Given the description of an element on the screen output the (x, y) to click on. 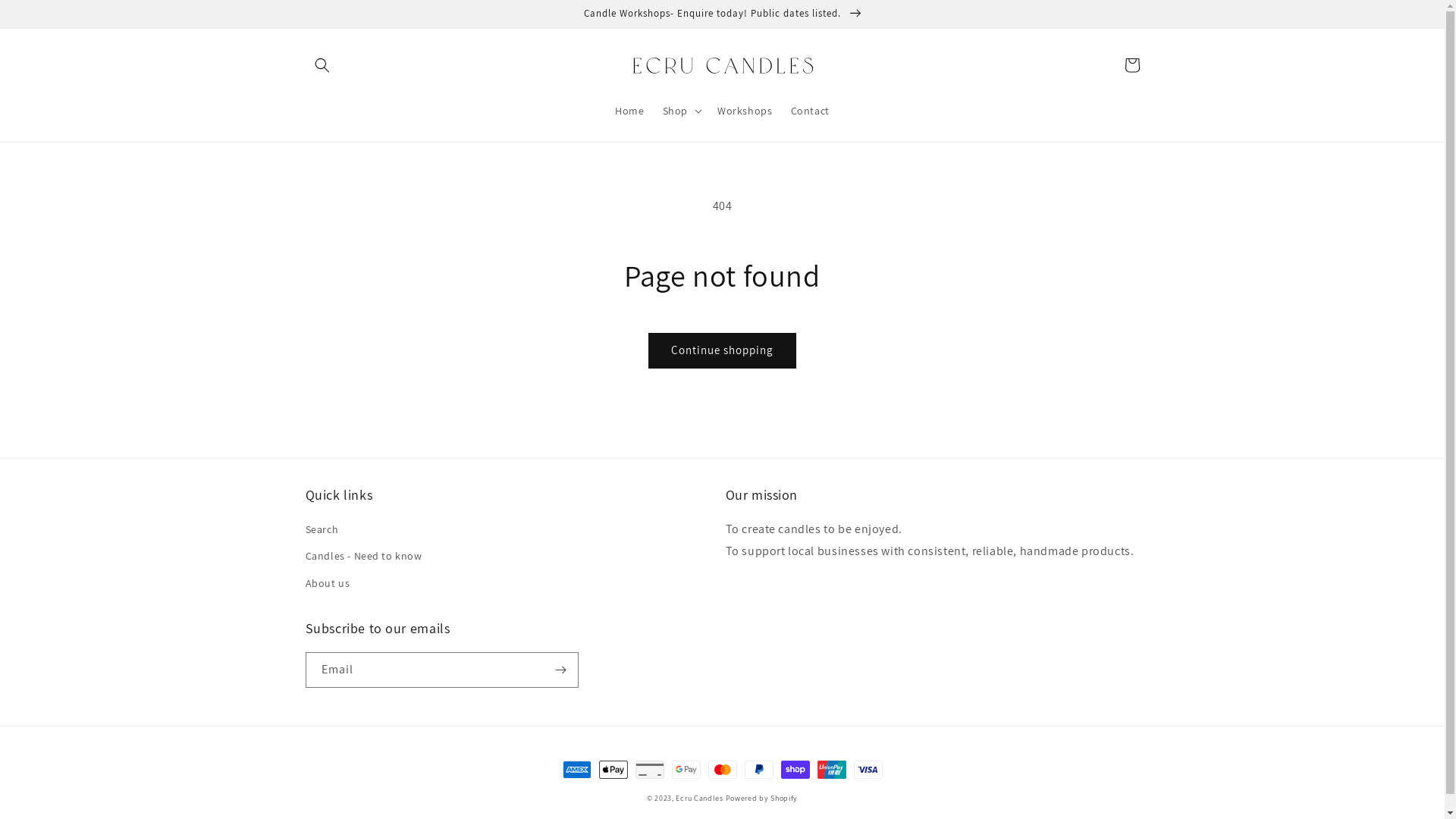
Search Element type: text (321, 531)
Workshops Element type: text (744, 110)
Continue shopping Element type: text (722, 350)
Candles - Need to know Element type: text (362, 555)
Powered by Shopify Element type: text (761, 798)
Candle Workshops- Enquire today! Public dates listed. Element type: text (722, 14)
Contact Element type: text (809, 110)
Cart Element type: text (1131, 64)
About us Element type: text (326, 583)
Home Element type: text (628, 110)
Ecru Candles Element type: text (698, 798)
